Given the description of an element on the screen output the (x, y) to click on. 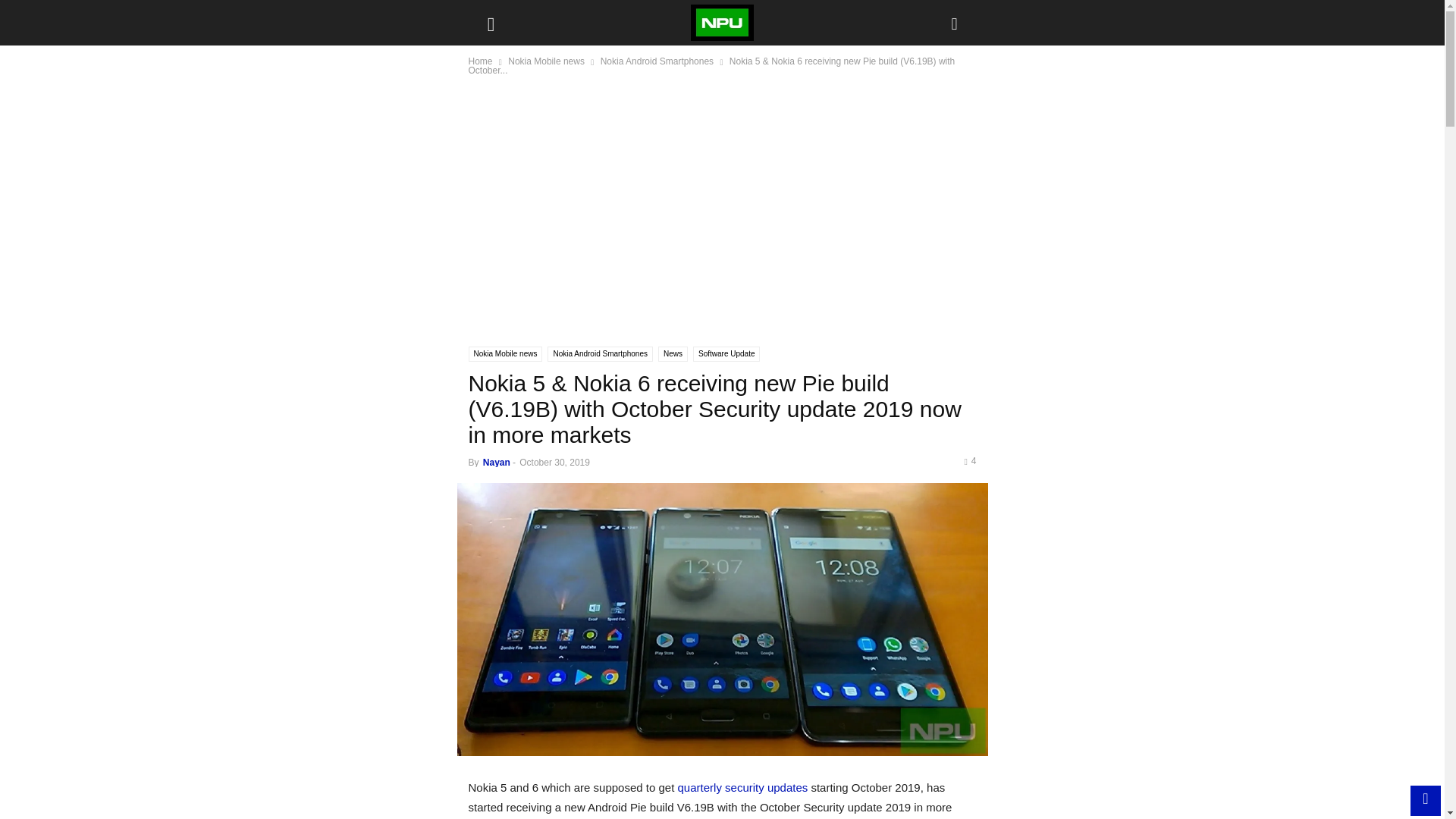
Home (480, 61)
Software Update (726, 353)
Nayan (497, 462)
Nokia Android Smartphones (599, 353)
quarterly security updates (743, 787)
News (672, 353)
Nokia Mobile news (505, 353)
Nokiapoweruser logo (721, 22)
Nokiapoweruser logo (722, 22)
View all posts in Nokia Android Smartphones (656, 61)
Nokia Android Smartphones (656, 61)
View all posts in Nokia Mobile news (546, 61)
4 (969, 460)
3rd party ad content (722, 218)
